Given the description of an element on the screen output the (x, y) to click on. 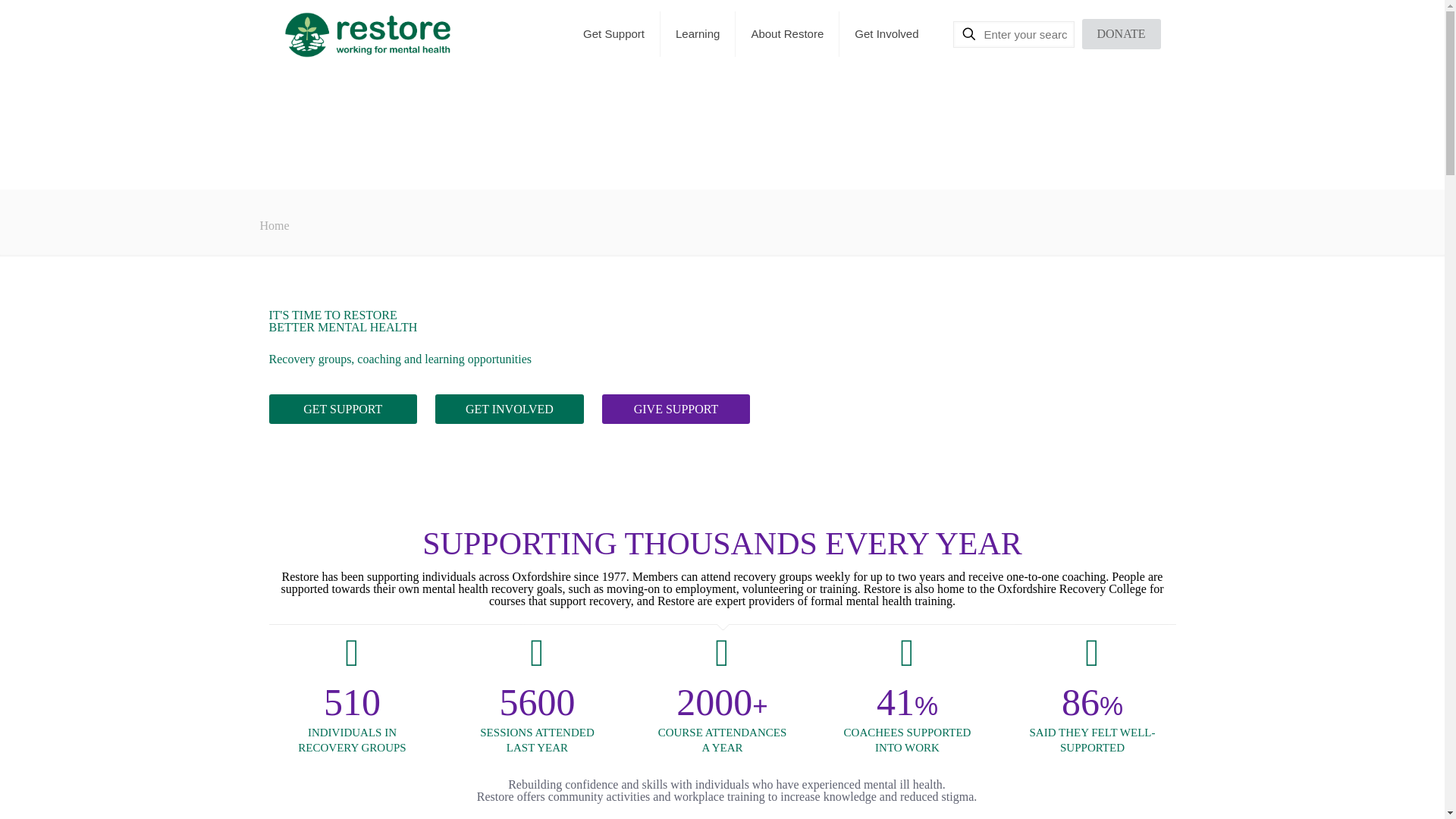
DONATE (1120, 33)
Restore - working for mental health (367, 33)
DONATE (1120, 33)
Get Involved (886, 33)
Home (273, 225)
About Restore (787, 33)
GET INVOLVED (509, 408)
Learning (698, 33)
GET SUPPORT (341, 408)
Get Support (614, 33)
GIVE SUPPORT (676, 408)
